Given the description of an element on the screen output the (x, y) to click on. 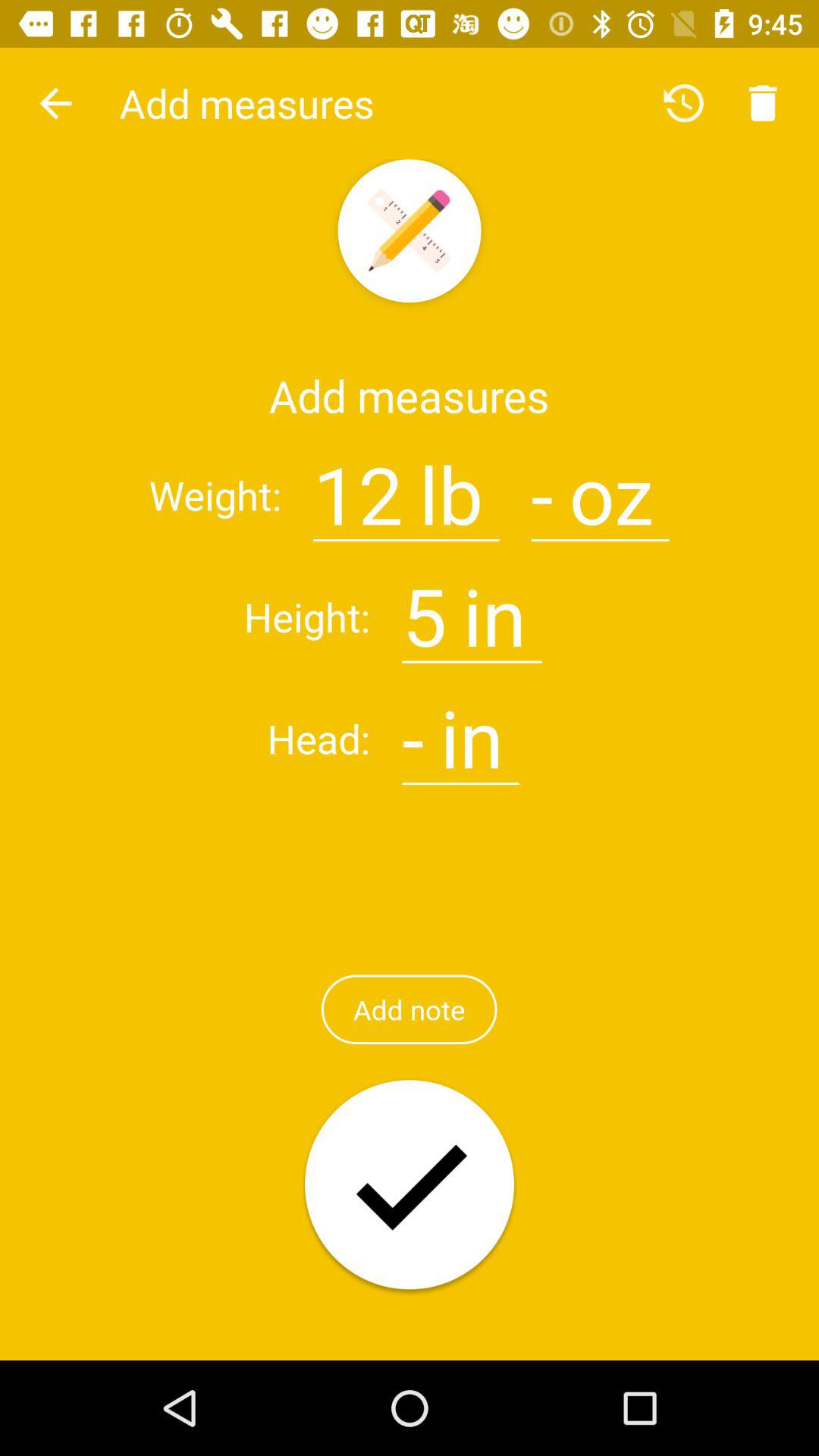
choose icon above the height (55, 103)
